Given the description of an element on the screen output the (x, y) to click on. 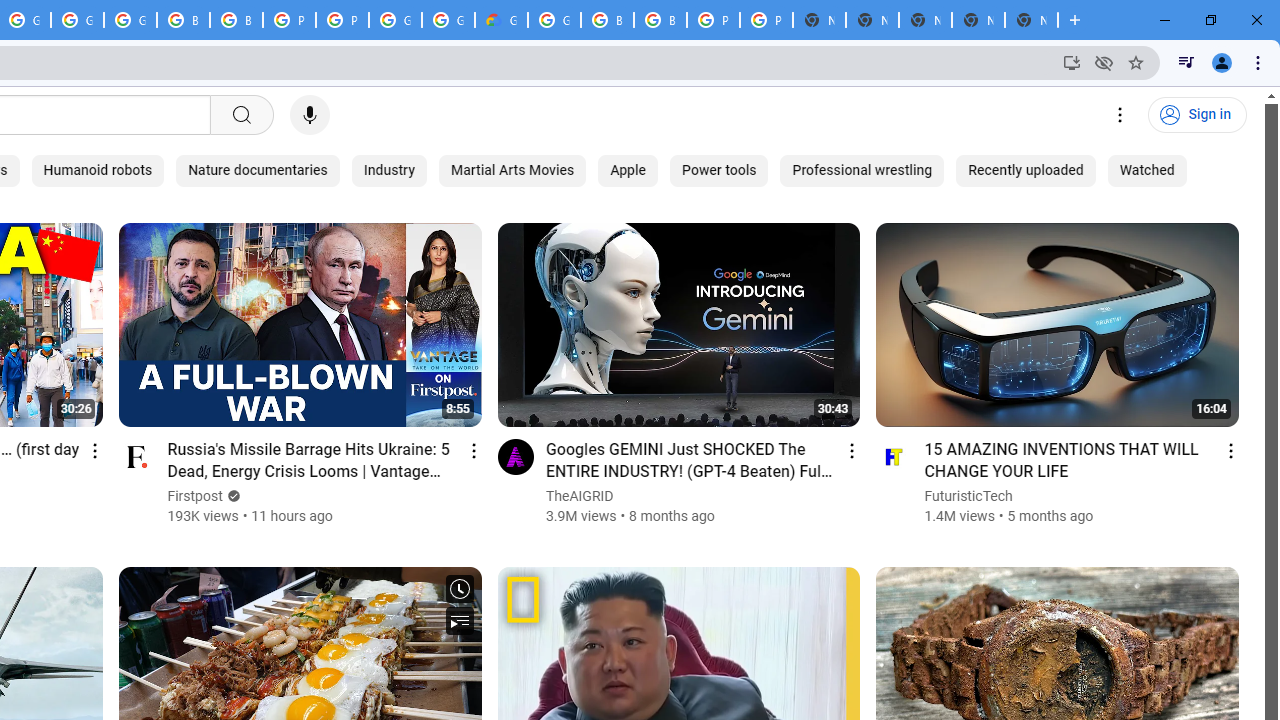
Google Cloud Platform (395, 20)
Humanoid robots (97, 170)
Go to channel (893, 456)
Professional wrestling (861, 170)
Settings (1119, 115)
Firstpost (195, 496)
Watched (1146, 170)
Install YouTube (1071, 62)
Action menu (1229, 449)
Search with your voice (309, 115)
